Given the description of an element on the screen output the (x, y) to click on. 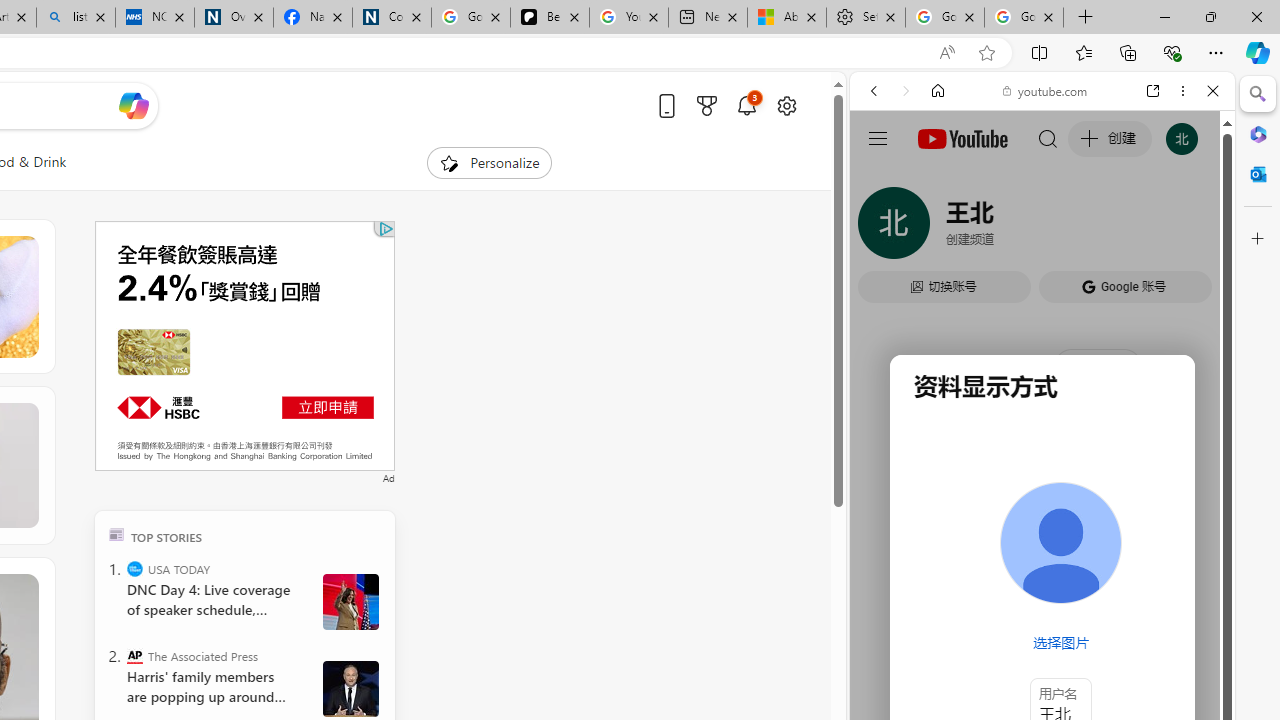
Search videos from youtube.com (1005, 657)
Search Filter, Search Tools (1093, 228)
Class: qc-adchoices-link top-right  (385, 228)
Notifications (746, 105)
YouTube (1034, 296)
Close Customize pane (1258, 239)
Class: qc-adchoices-icon (386, 228)
youtube.com (1046, 90)
VIDEOS (1006, 228)
